Given the description of an element on the screen output the (x, y) to click on. 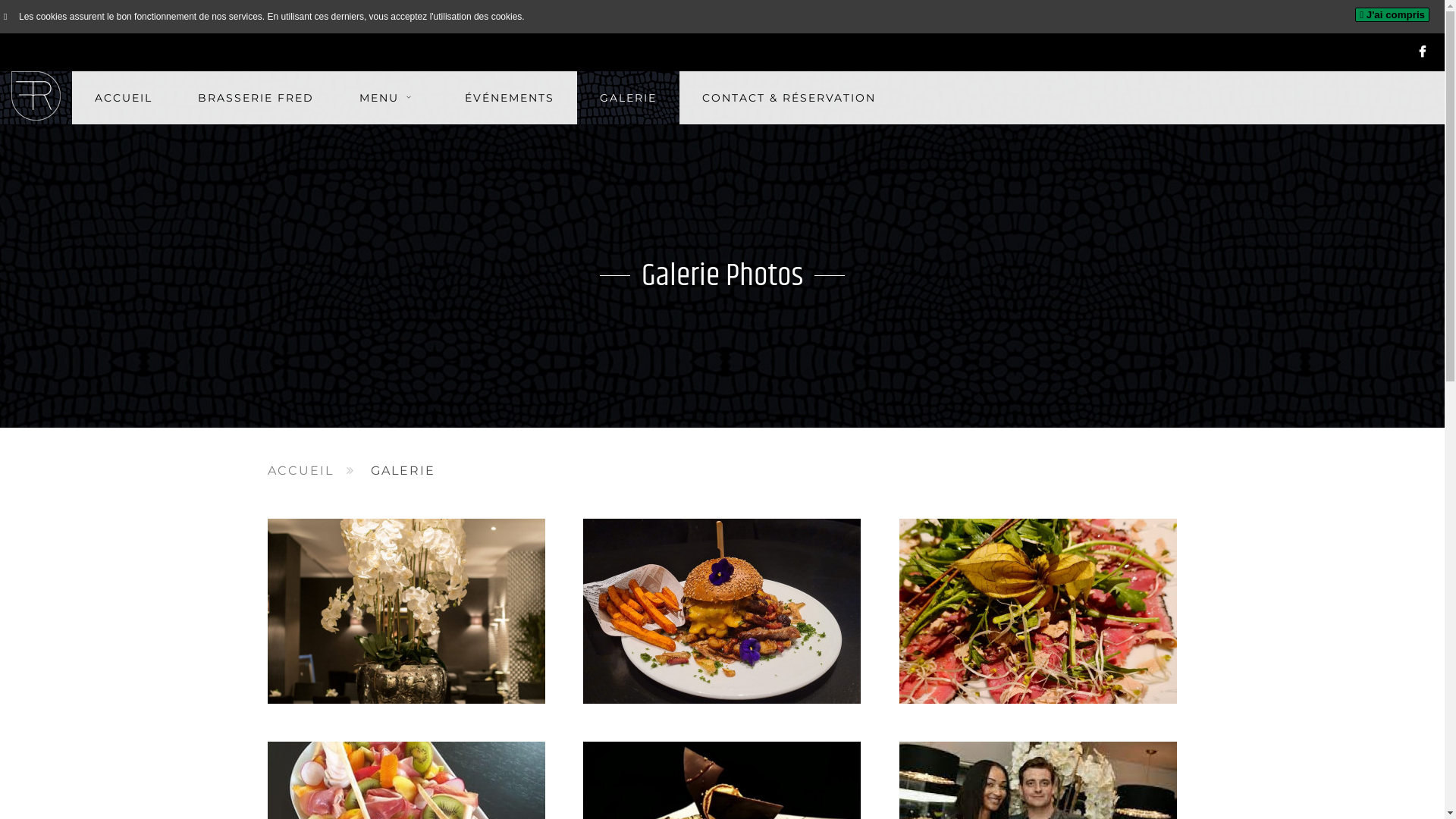
ACCUEIL Element type: text (299, 470)
ACCUEIL Element type: text (123, 97)
BRASSERIE FRED Element type: text (255, 97)
MENU Element type: text (389, 97)
GALERIE Element type: text (628, 97)
